Given the description of an element on the screen output the (x, y) to click on. 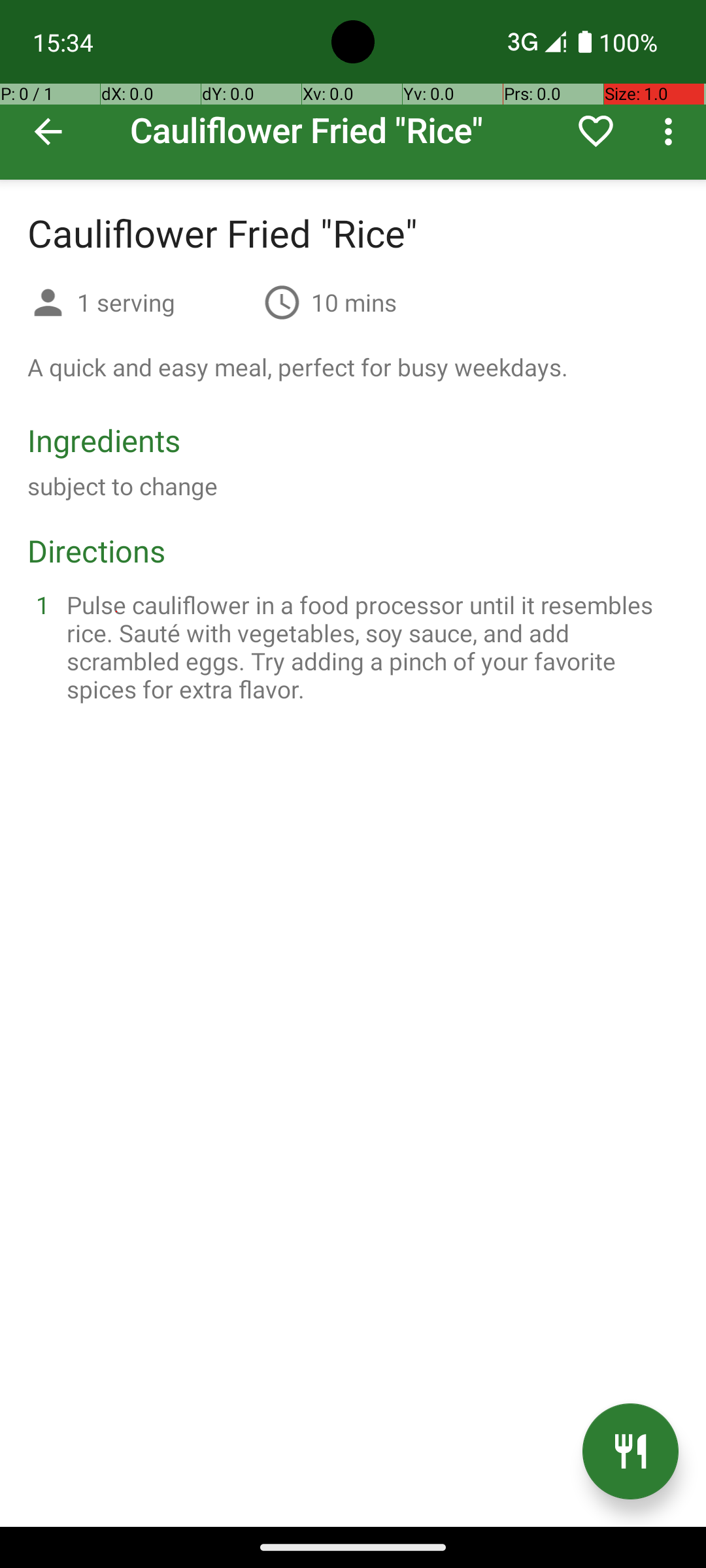
10 mins Element type: android.widget.TextView (353, 301)
subject to change Element type: android.widget.TextView (122, 485)
Pulse cauliflower in a food processor until it resembles rice. Sauté with vegetables, soy sauce, and add scrambled eggs. Try adding a pinch of your favorite spices for extra flavor. Element type: android.widget.TextView (368, 646)
